Given the description of an element on the screen output the (x, y) to click on. 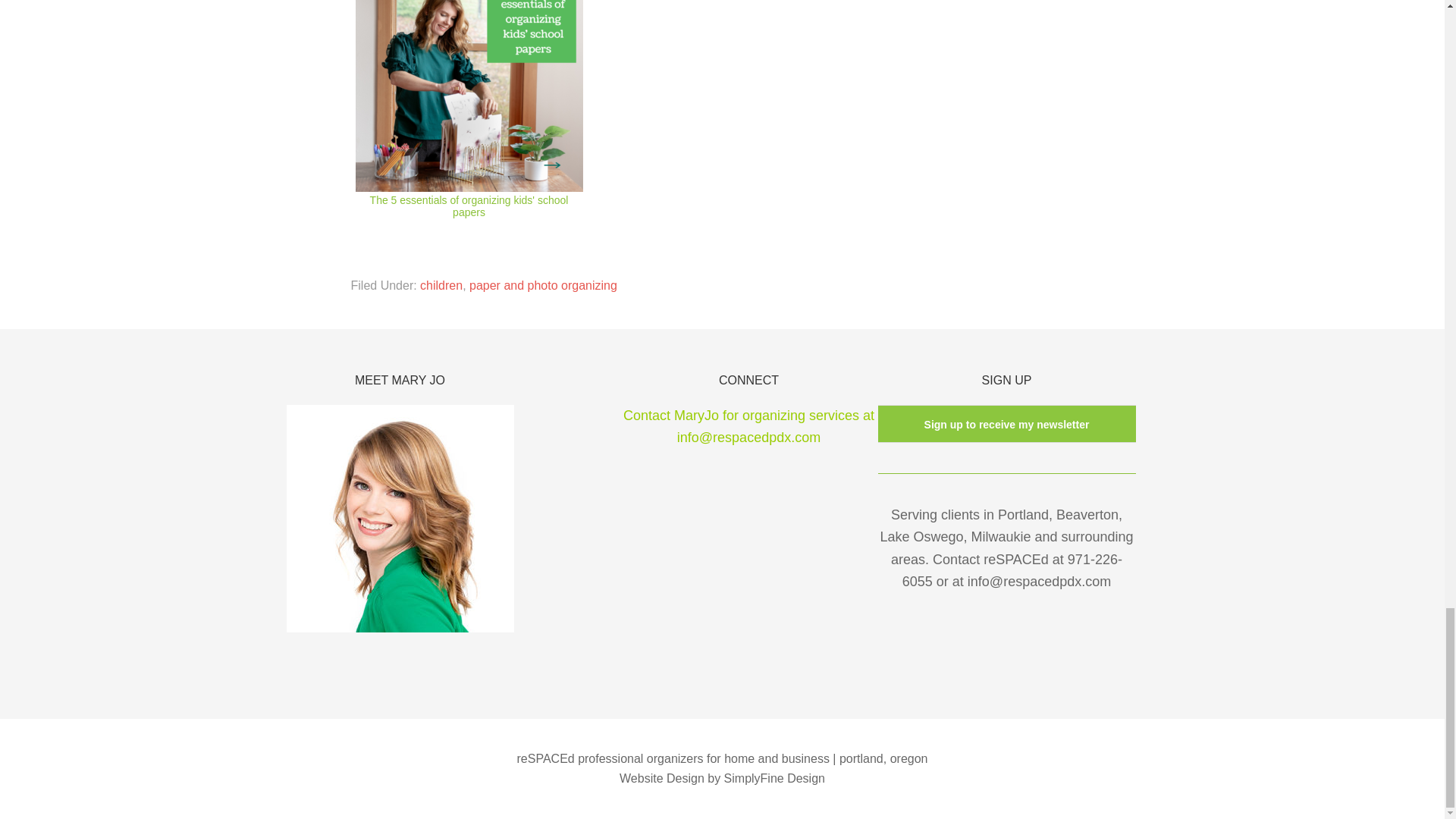
children (441, 285)
reSPACEd professional organizers for home and business (672, 758)
paper and photo organizing (542, 285)
Sign up to receive my newsletter (1006, 424)
Website Design by SimplyFine Design (722, 778)
